Given the description of an element on the screen output the (x, y) to click on. 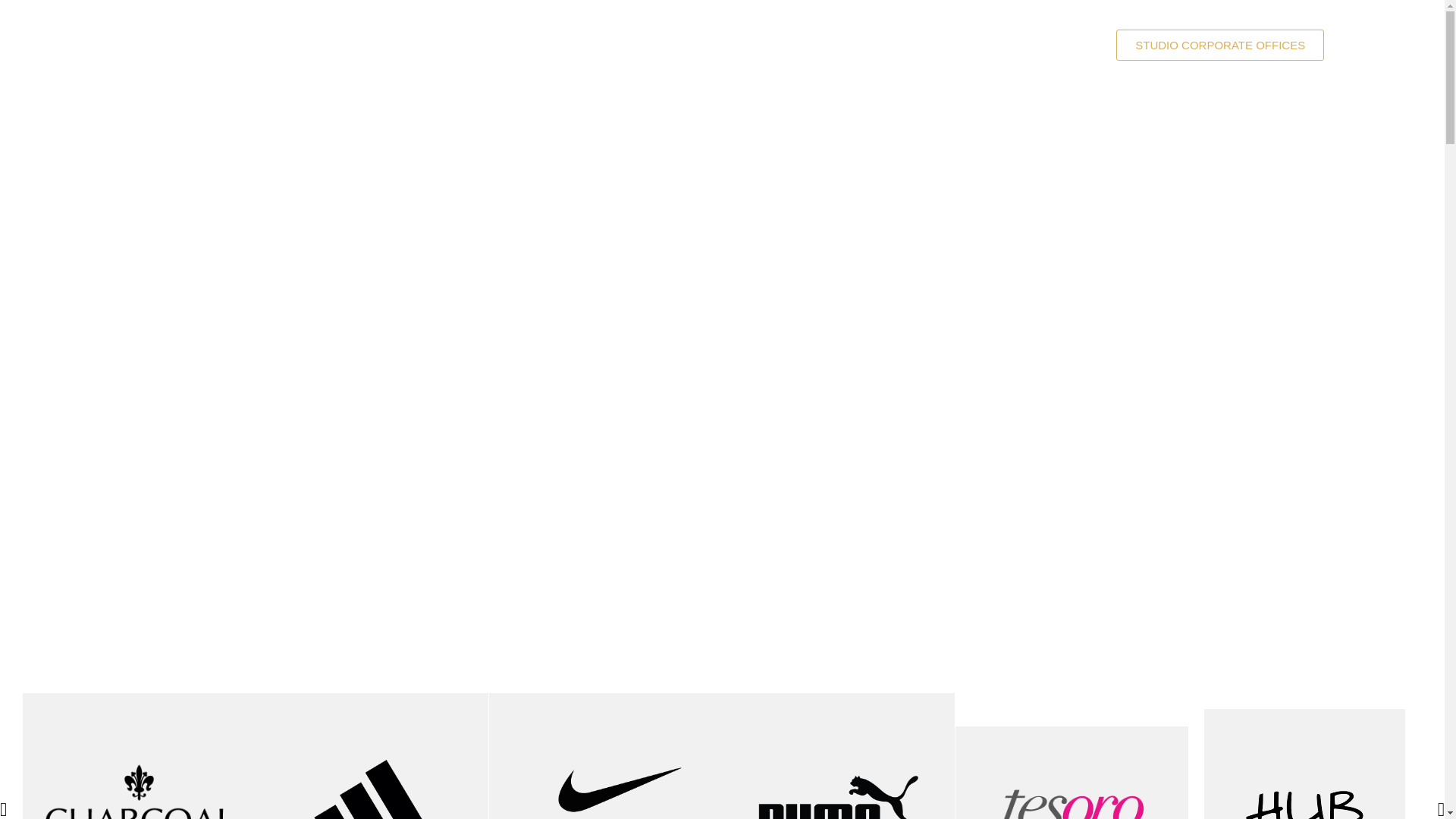
CONTACT US (853, 44)
EVENTS (1058, 44)
CINEMA (632, 44)
FESTIVALS (965, 44)
FOOD COURT (735, 44)
HOME (485, 44)
SHOP (556, 44)
STUDIO CORPORATE OFFICES (1219, 44)
